Given the description of an element on the screen output the (x, y) to click on. 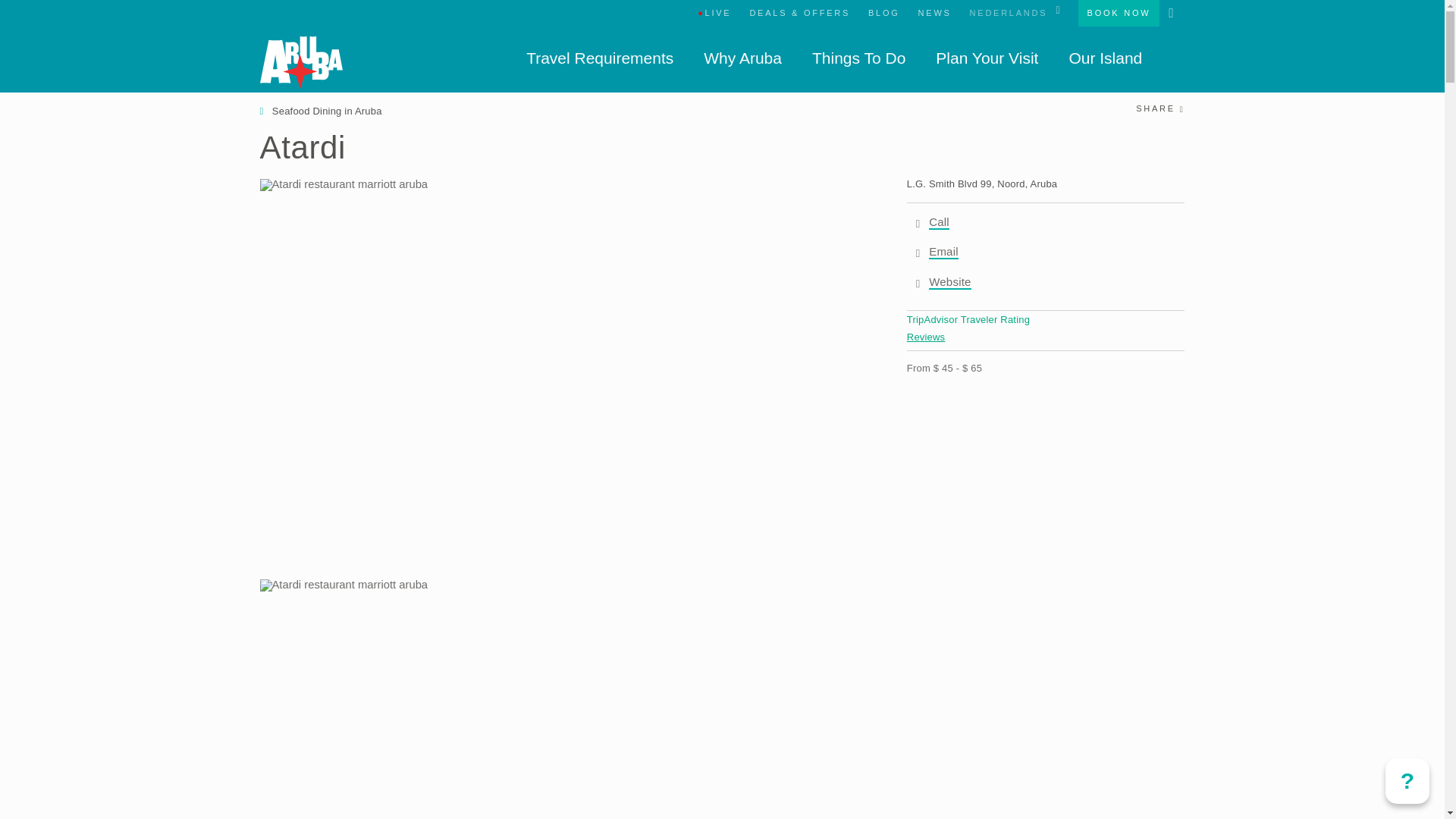
NEWS (934, 13)
Atardi Restaurant (559, 585)
BOOK NOW (1119, 13)
Atardi Restaurant (559, 184)
Things To Do (858, 57)
Travel Requirements (598, 57)
Why Aruba (742, 57)
BLOG (883, 13)
